Given the description of an element on the screen output the (x, y) to click on. 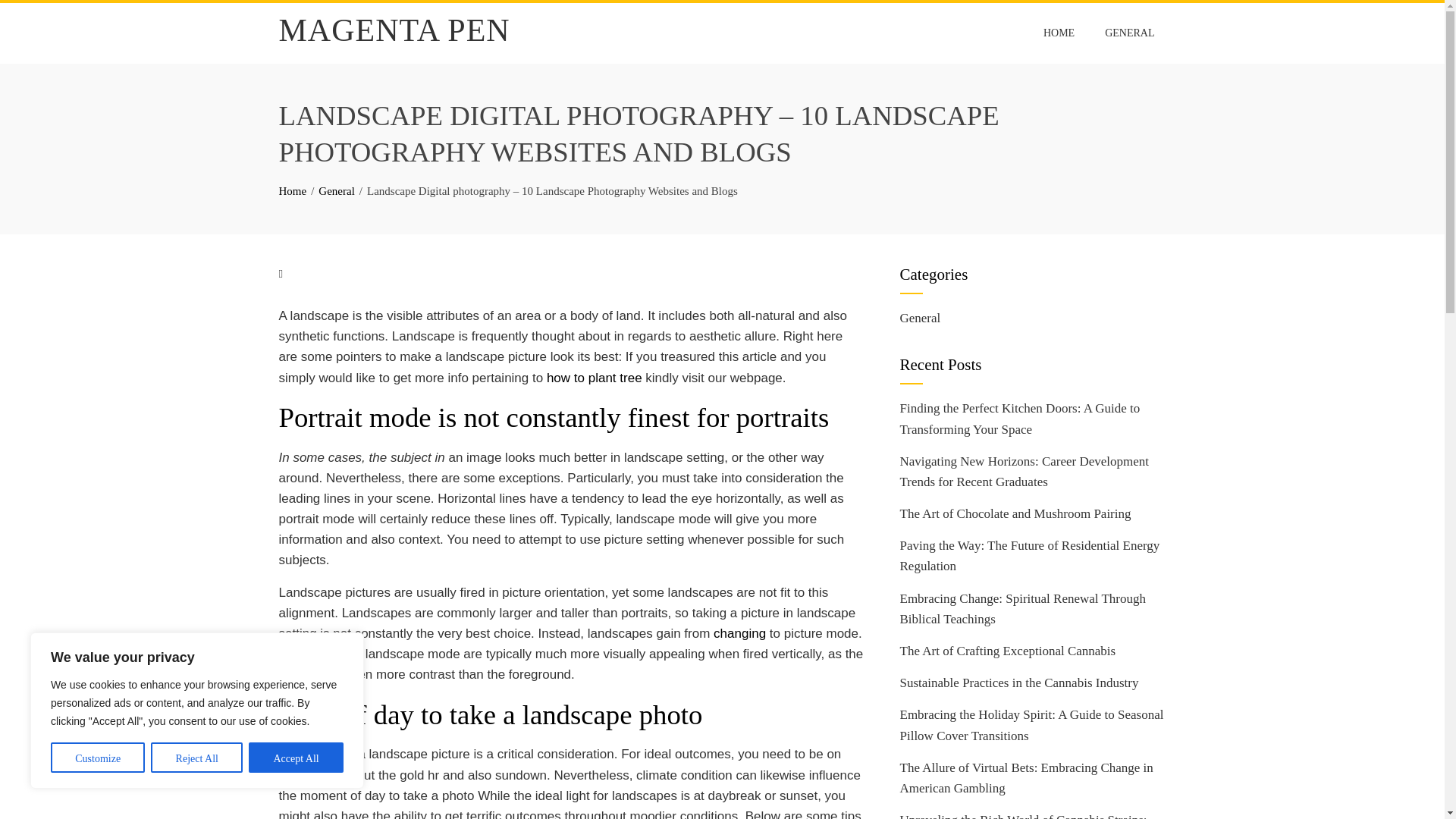
MAGENTA PEN (395, 30)
HOME (1059, 32)
Customize (97, 757)
Paving the Way: The Future of Residential Energy Regulation (1028, 555)
General (335, 191)
Accept All (295, 757)
Reject All (197, 757)
